Given the description of an element on the screen output the (x, y) to click on. 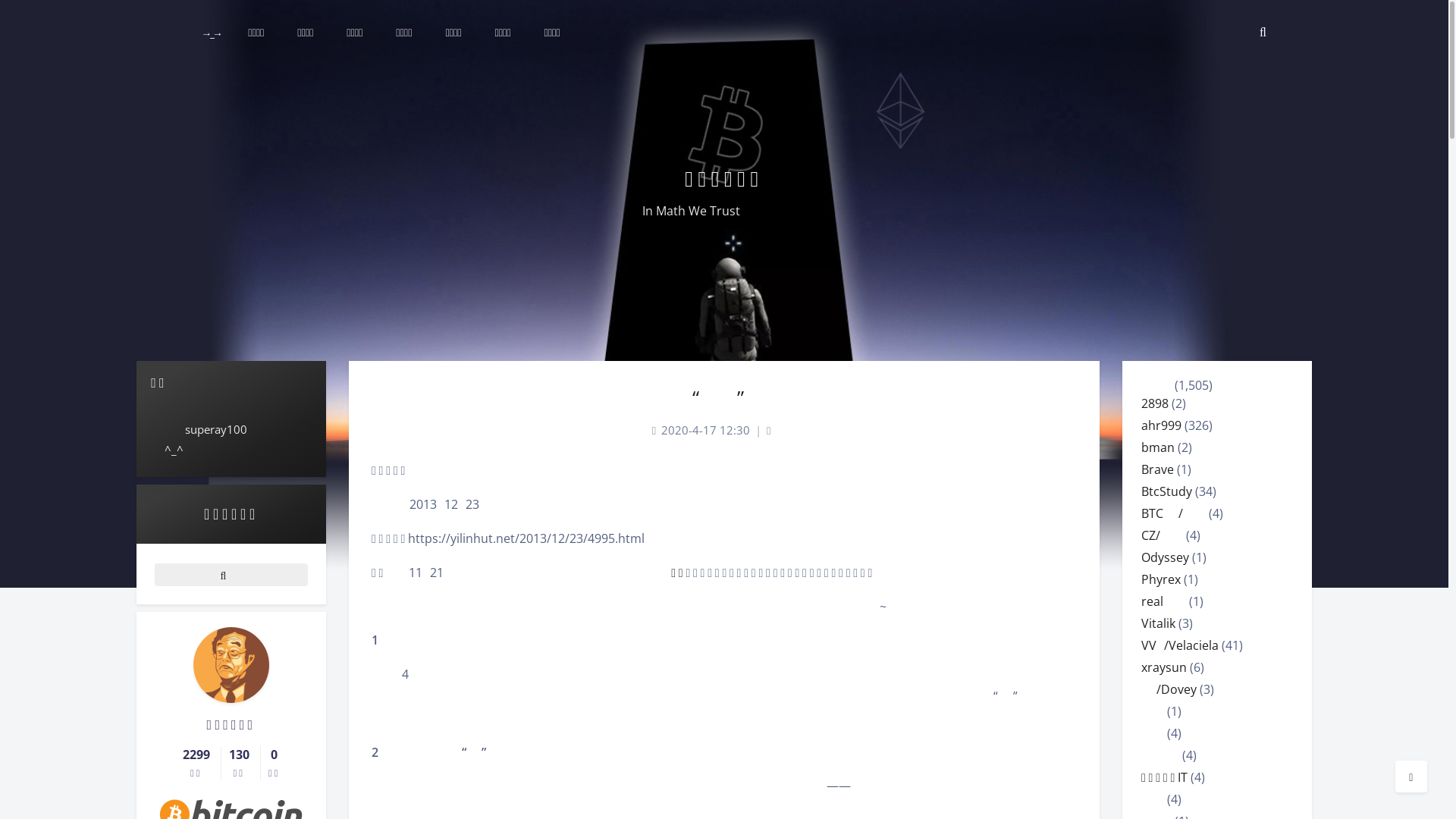
bman Element type: text (1157, 447)
Phyrex Element type: text (1160, 579)
2898 Element type: text (1154, 403)
Vitalik Element type: text (1158, 623)
xraysun Element type: text (1163, 666)
BtcStudy Element type: text (1166, 491)
Odyssey Element type: text (1165, 557)
Brave Element type: text (1157, 469)
ahr999 Element type: text (1161, 425)
